Given the description of an element on the screen output the (x, y) to click on. 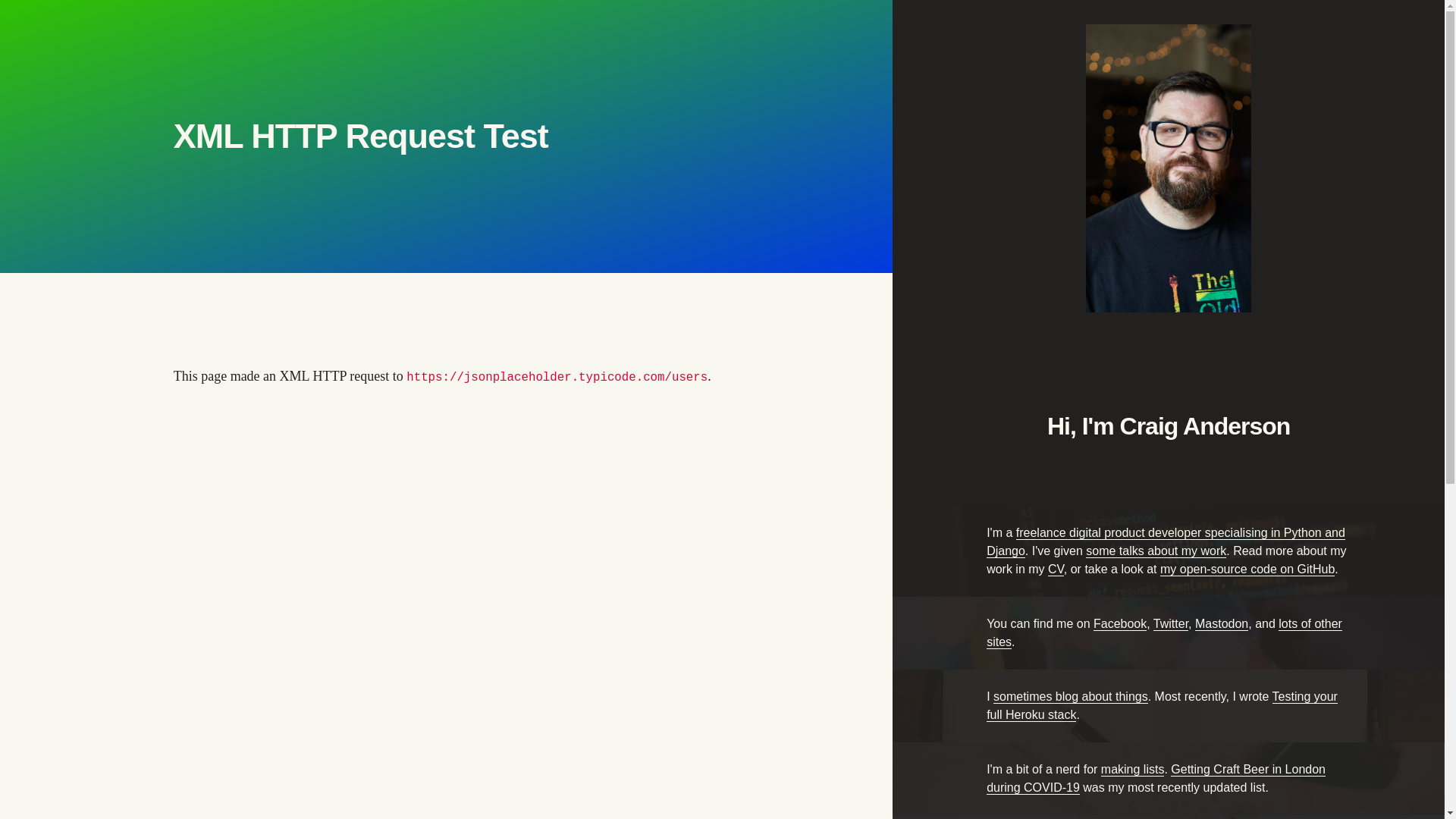
Testing your full Heroku stack Element type: text (1161, 705)
lots of other sites Element type: text (1164, 633)
some talks about my work Element type: text (1155, 551)
Hi, I'm Craig Anderson Element type: text (1168, 252)
Mastodon Element type: text (1221, 623)
sometimes blog about things Element type: text (1070, 696)
Facebook Element type: text (1119, 623)
my open-source code on GitHub Element type: text (1247, 569)
Twitter Element type: text (1170, 623)
CV Element type: text (1055, 569)
Getting Craft Beer in London during COVID-19 Element type: text (1155, 778)
making lists Element type: text (1132, 769)
